Given the description of an element on the screen output the (x, y) to click on. 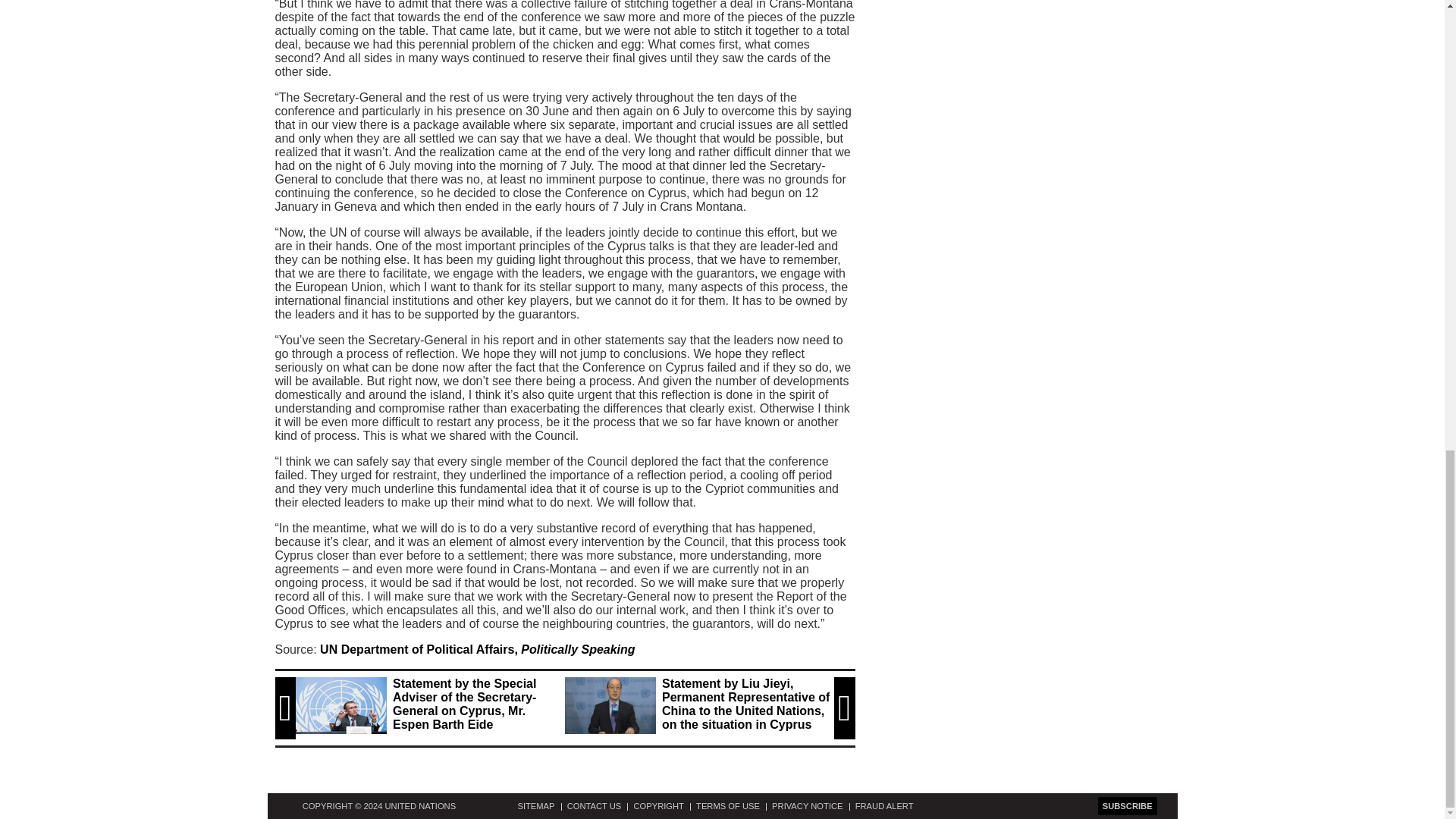
UN Department of Political Affairs, Politically Speaking (477, 649)
